Given the description of an element on the screen output the (x, y) to click on. 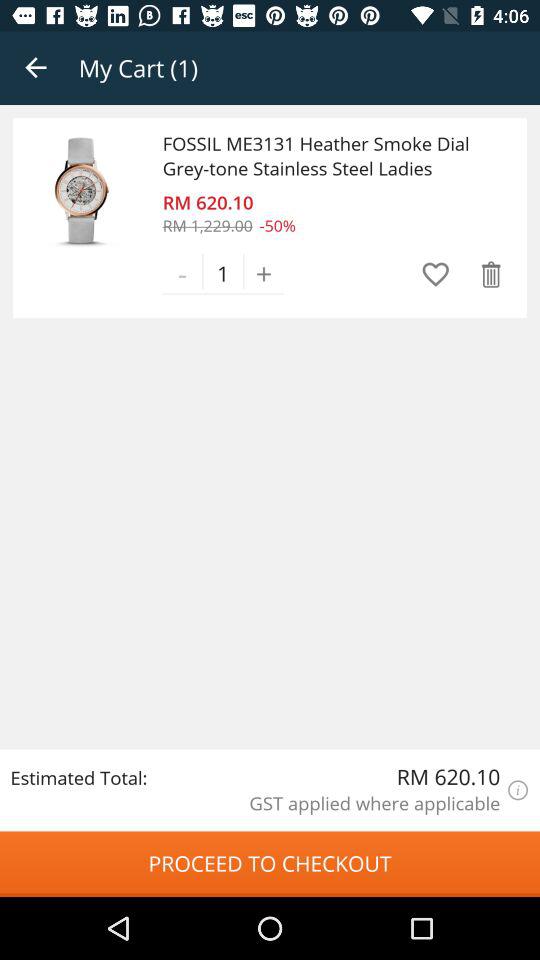
like (435, 274)
